Given the description of an element on the screen output the (x, y) to click on. 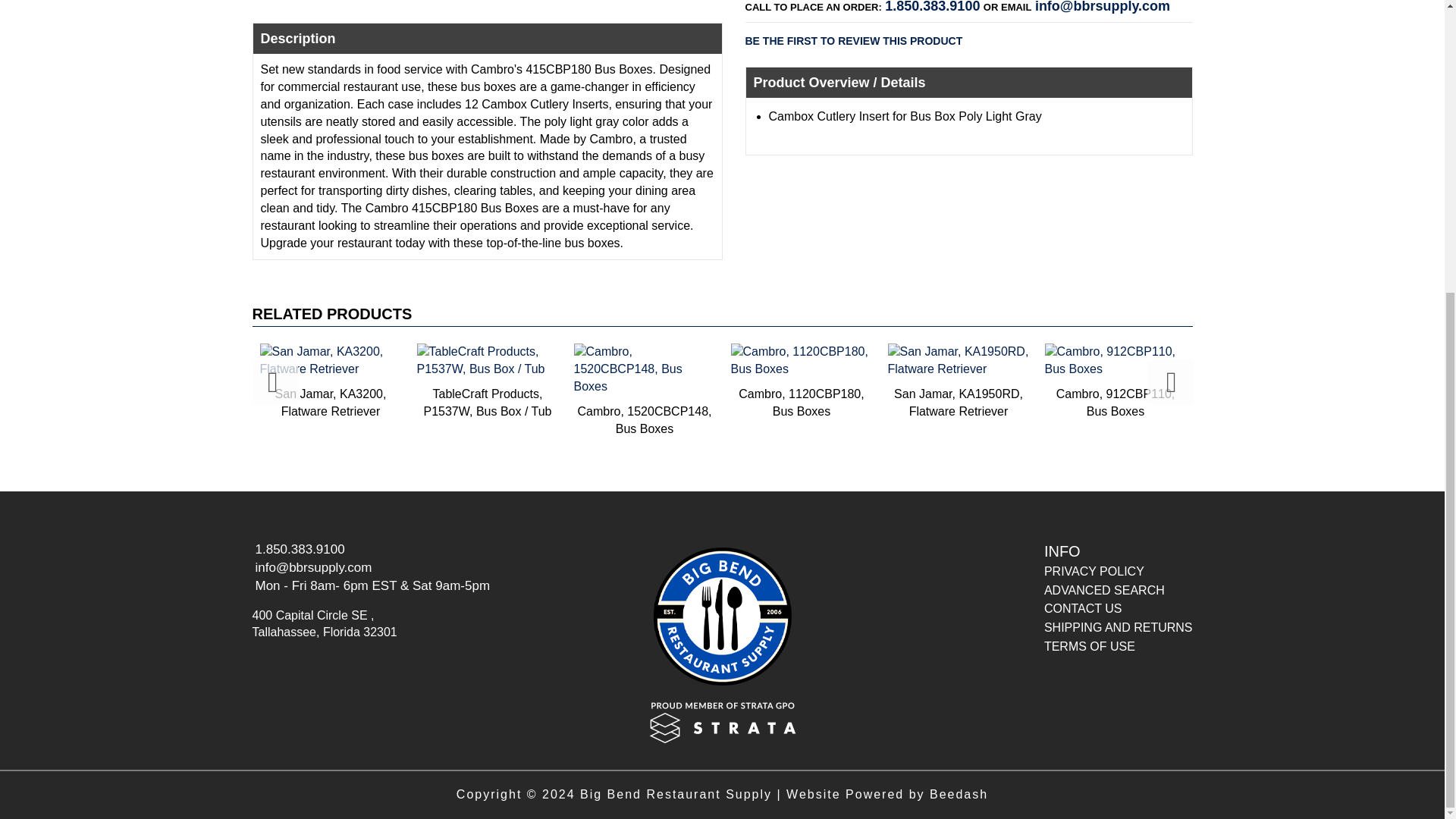
San Jamar, KA3200, Flatware Retriever (330, 381)
Cambro, 1120CBP180, Bus Boxes (801, 381)
Cambro, 1120CBP110, Bus Boxes (173, 381)
Cambro, 1520CBCP148, Bus Boxes (644, 390)
San Jamar, KA1950RD, Flatware Retriever (957, 381)
